Given the description of an element on the screen output the (x, y) to click on. 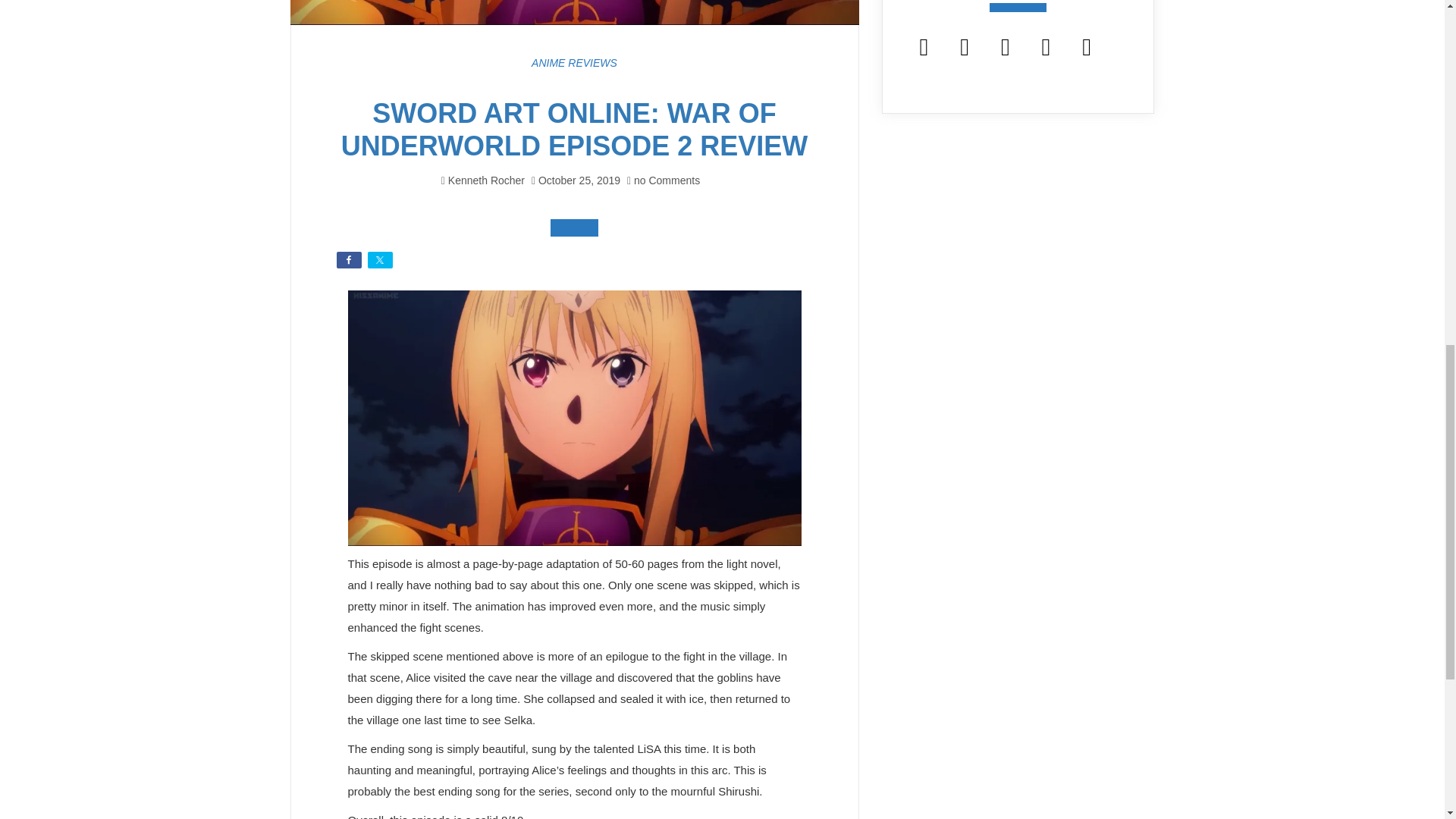
Share on Twitter (378, 259)
Posts by Kenneth Rocher (486, 180)
ANIME REVIEWS (574, 62)
Kenneth Rocher (486, 180)
SWORD ART ONLINE: WAR OF UNDERWORLD EPISODE 2 REVIEW (574, 129)
Share on Facebook (348, 259)
October 25, 2019 (579, 180)
no Comments (663, 180)
